Given the description of an element on the screen output the (x, y) to click on. 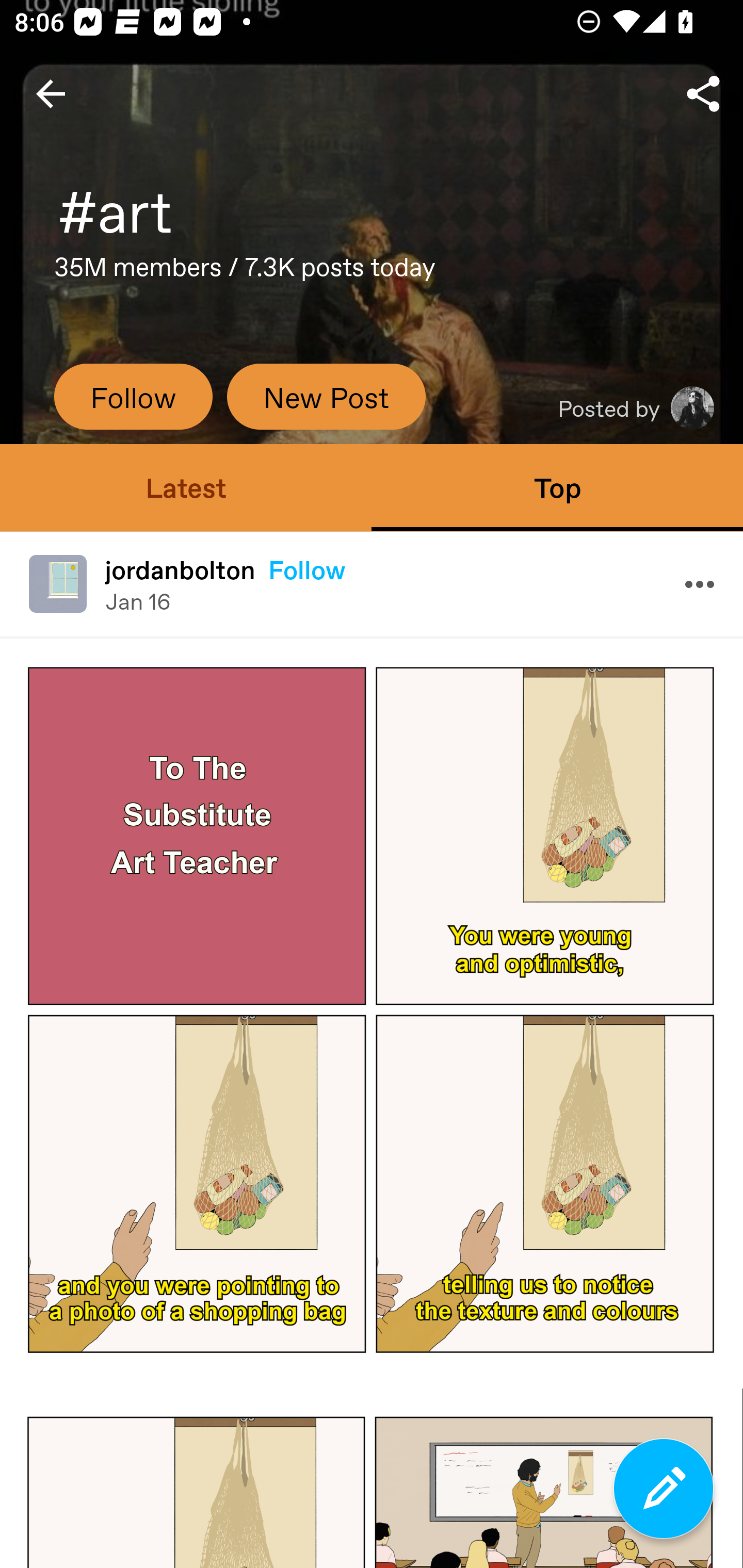
Navigate up (50, 93)
35M members /  7.3K posts today (244, 272)
Follow (133, 396)
New Post (326, 396)
Latest (185, 486)
Follow (306, 569)
Compose a new post (663, 1488)
